Given the description of an element on the screen output the (x, y) to click on. 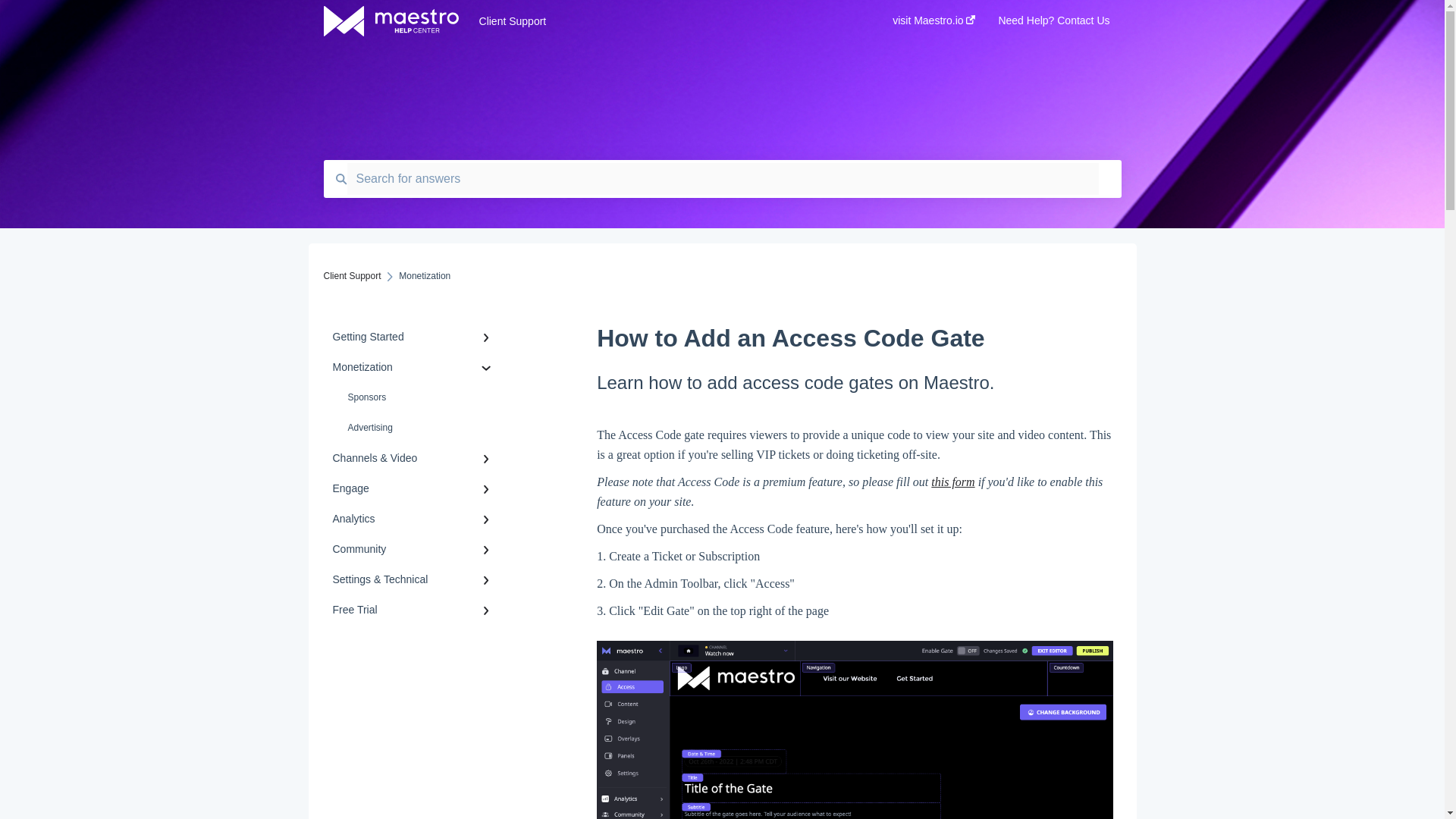
Client Support (663, 21)
Need Help? Contact Us (1053, 25)
visit Maestro.io (933, 25)
